Given the description of an element on the screen output the (x, y) to click on. 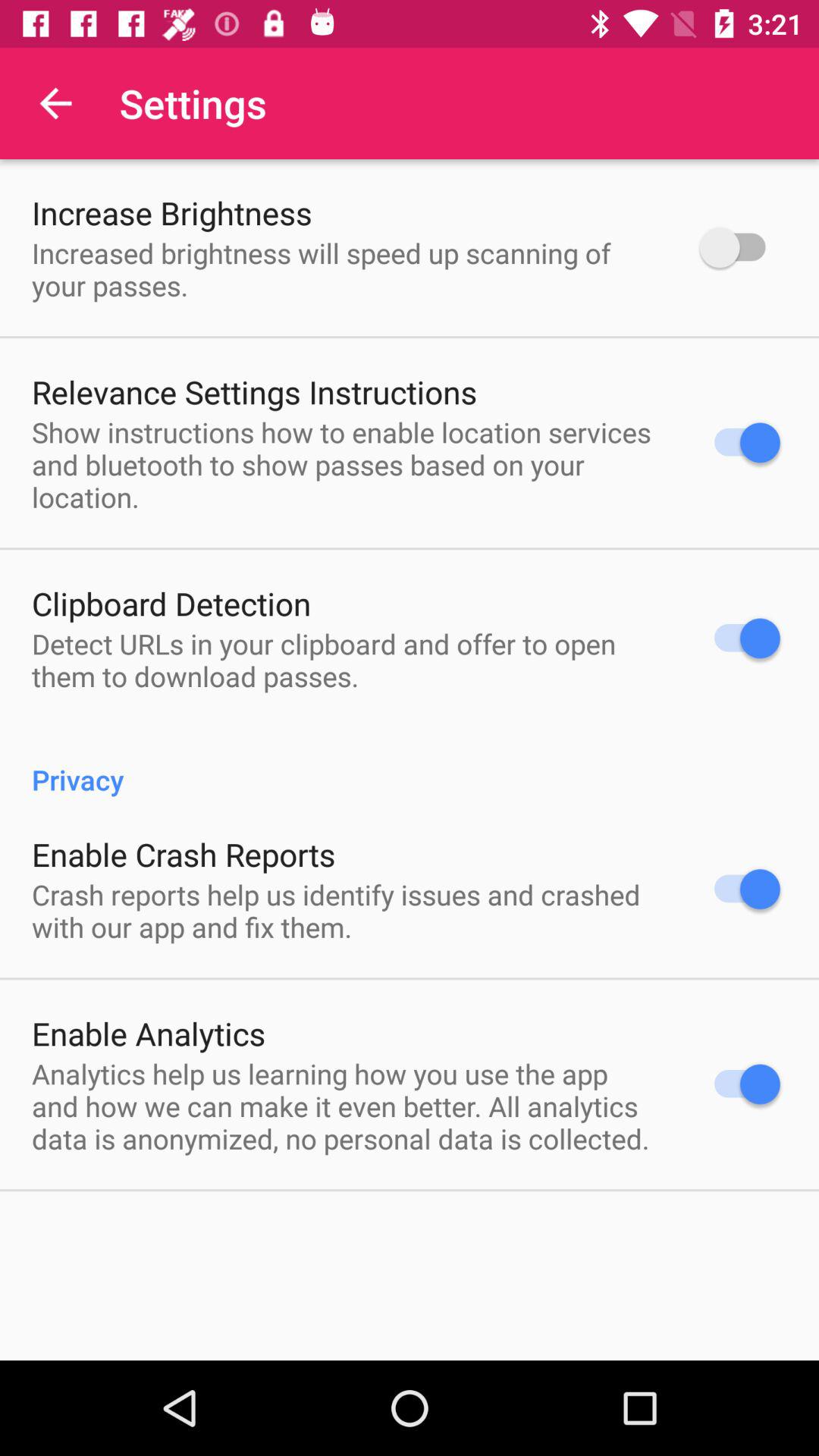
open item above clipboard detection icon (345, 464)
